Given the description of an element on the screen output the (x, y) to click on. 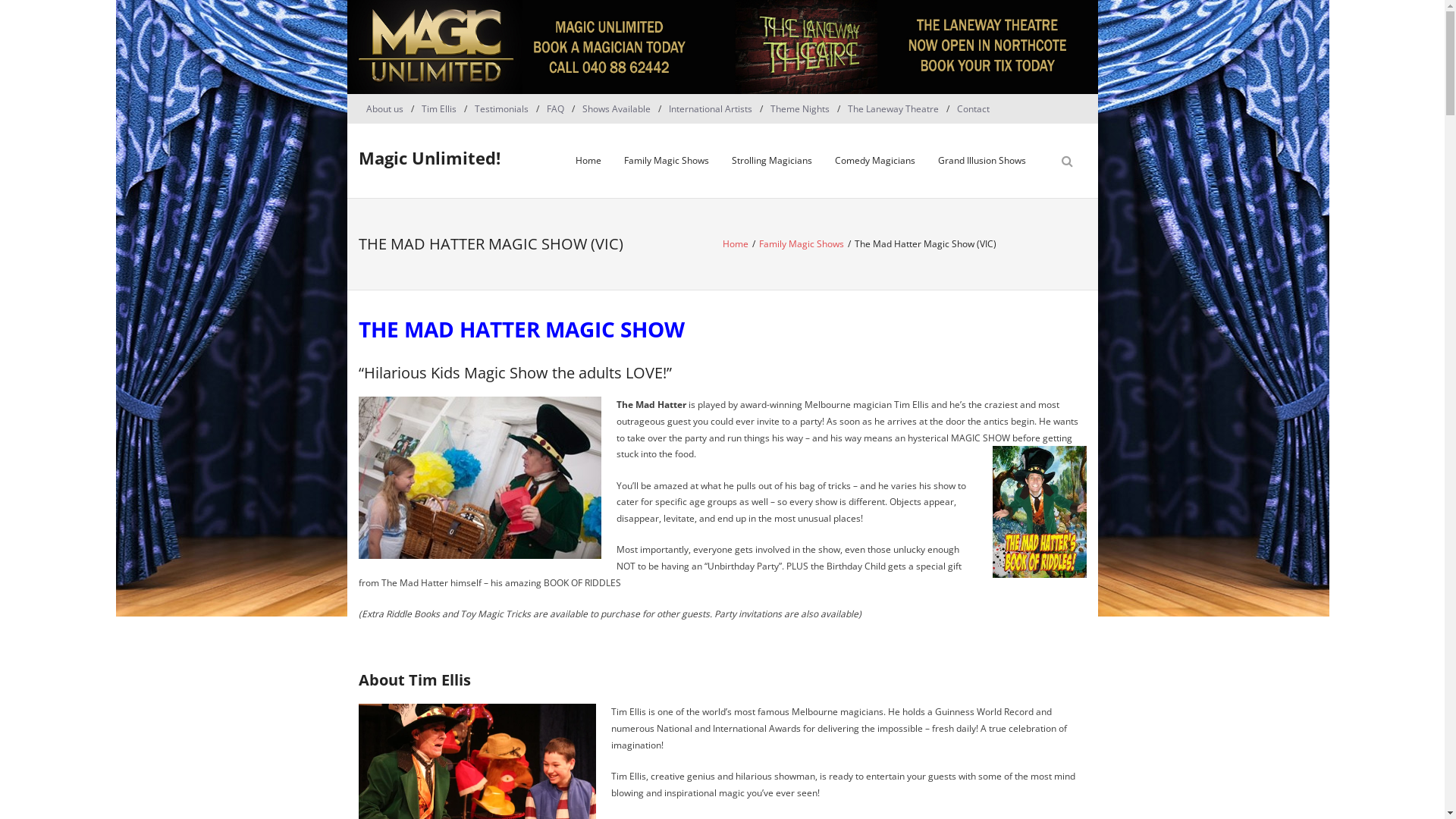
Family Magic Shows Element type: text (666, 160)
Grand Illusion Shows Element type: text (981, 160)
FAQ Element type: text (554, 109)
Home Element type: text (588, 160)
Theme Nights Element type: text (799, 109)
Magic Unlimited! Element type: text (428, 157)
Strolling Magicians Element type: text (771, 160)
International Artists Element type: text (710, 109)
Testimonials Element type: text (501, 109)
Contact Element type: text (973, 109)
About us Element type: text (383, 109)
Shows Available Element type: text (616, 109)
The Laneway Theatre Element type: text (893, 109)
Comedy Magicians Element type: text (874, 160)
Search Element type: text (26, 12)
Family Magic Shows Element type: text (800, 243)
Home Element type: text (734, 243)
Tim Ellis Element type: text (439, 109)
